Given the description of an element on the screen output the (x, y) to click on. 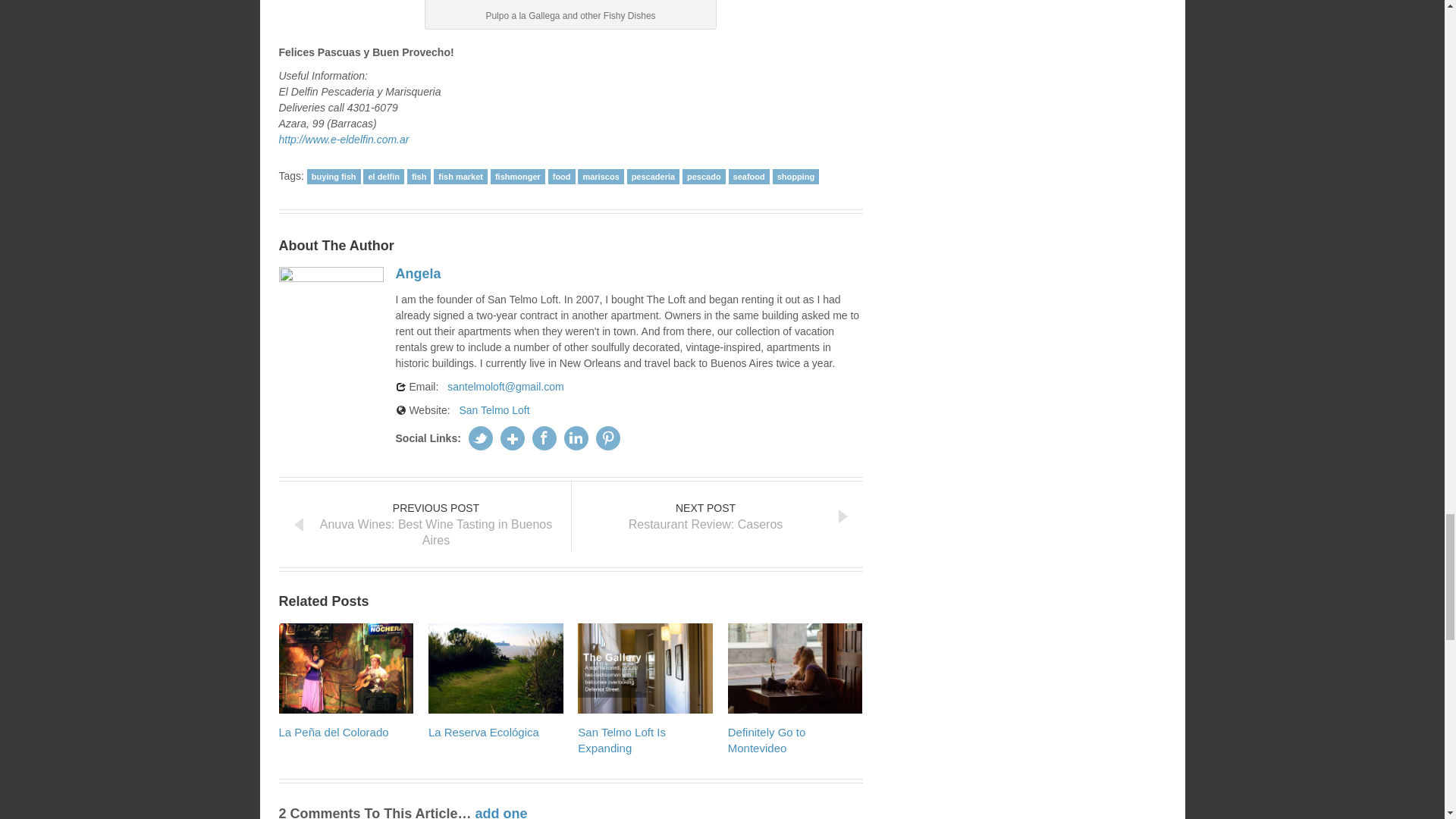
El Delfin (344, 139)
San Telmo Loft (493, 410)
Posts by Angela (421, 273)
Send a private message via email (505, 386)
Pescaderia El Delfin (570, 1)
